Given the description of an element on the screen output the (x, y) to click on. 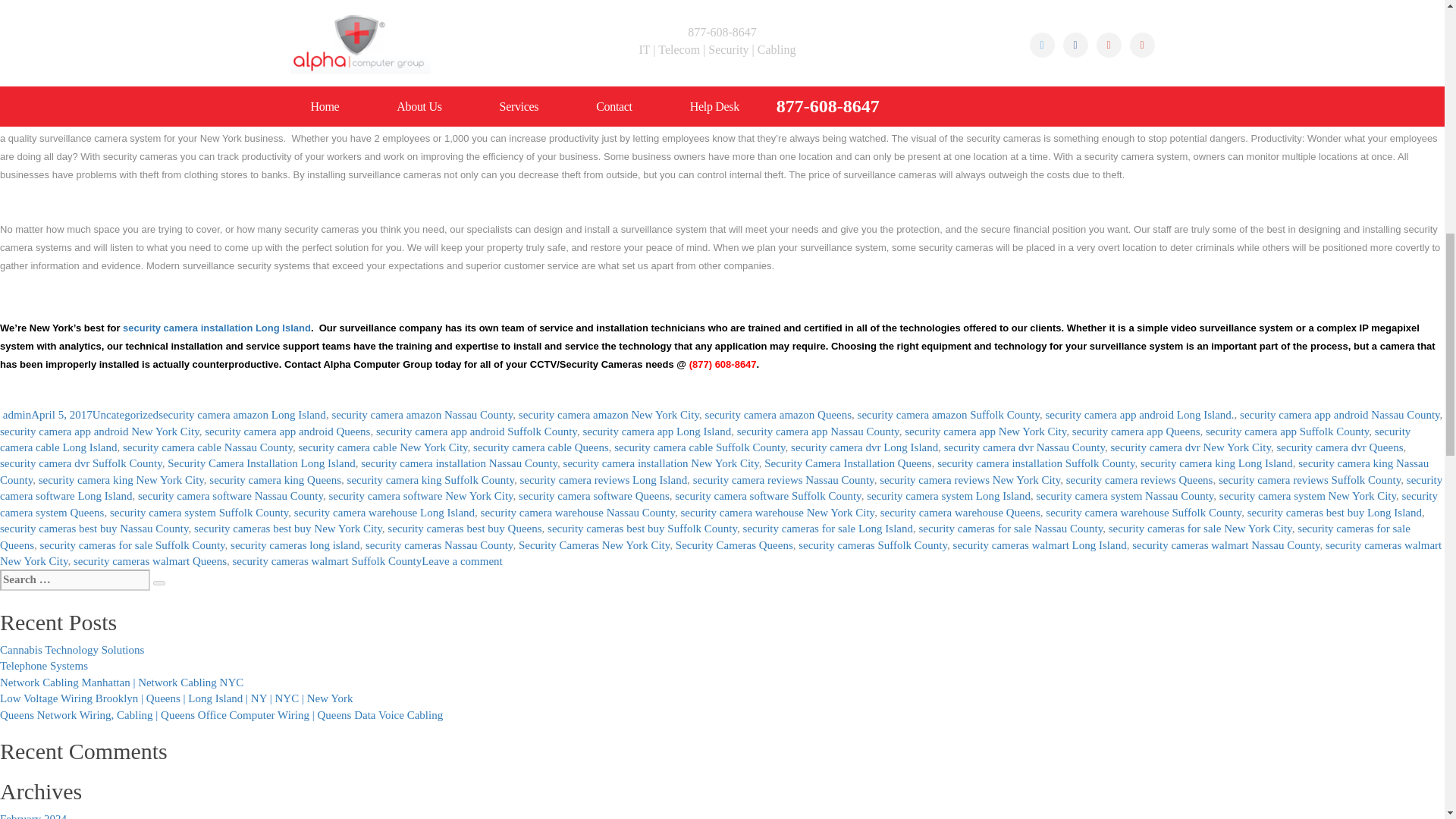
security camera app Suffolk County (1286, 431)
security camera dvr Long Island (863, 447)
security camera amazon Suffolk County (948, 414)
admin (17, 414)
security camera cable Nassau County (207, 447)
security camera dvr Nassau County (1024, 447)
security camera cable Suffolk County (699, 447)
security camera app android Nassau County (1339, 414)
security camera app Nassau County (817, 431)
security camera app android Long Island. (1139, 414)
